Given the description of an element on the screen output the (x, y) to click on. 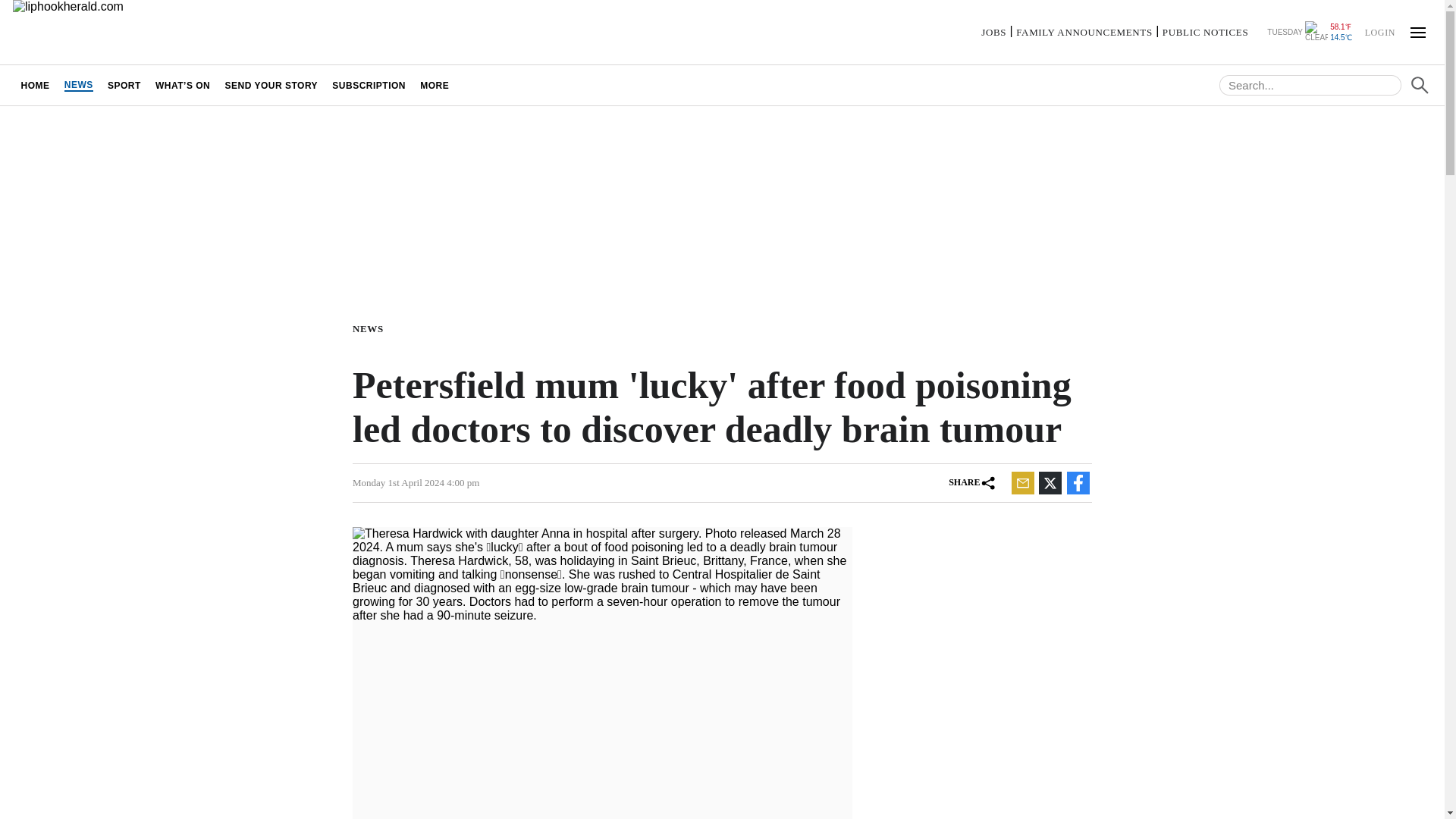
SEND YOUR STORY (270, 85)
LOGIN (1379, 31)
HOME (34, 85)
MORE (435, 85)
NEWS (371, 328)
SPORT (124, 85)
NEWS (78, 85)
PUBLIC NOTICES (1204, 32)
SUBSCRIPTION (368, 85)
